Given the description of an element on the screen output the (x, y) to click on. 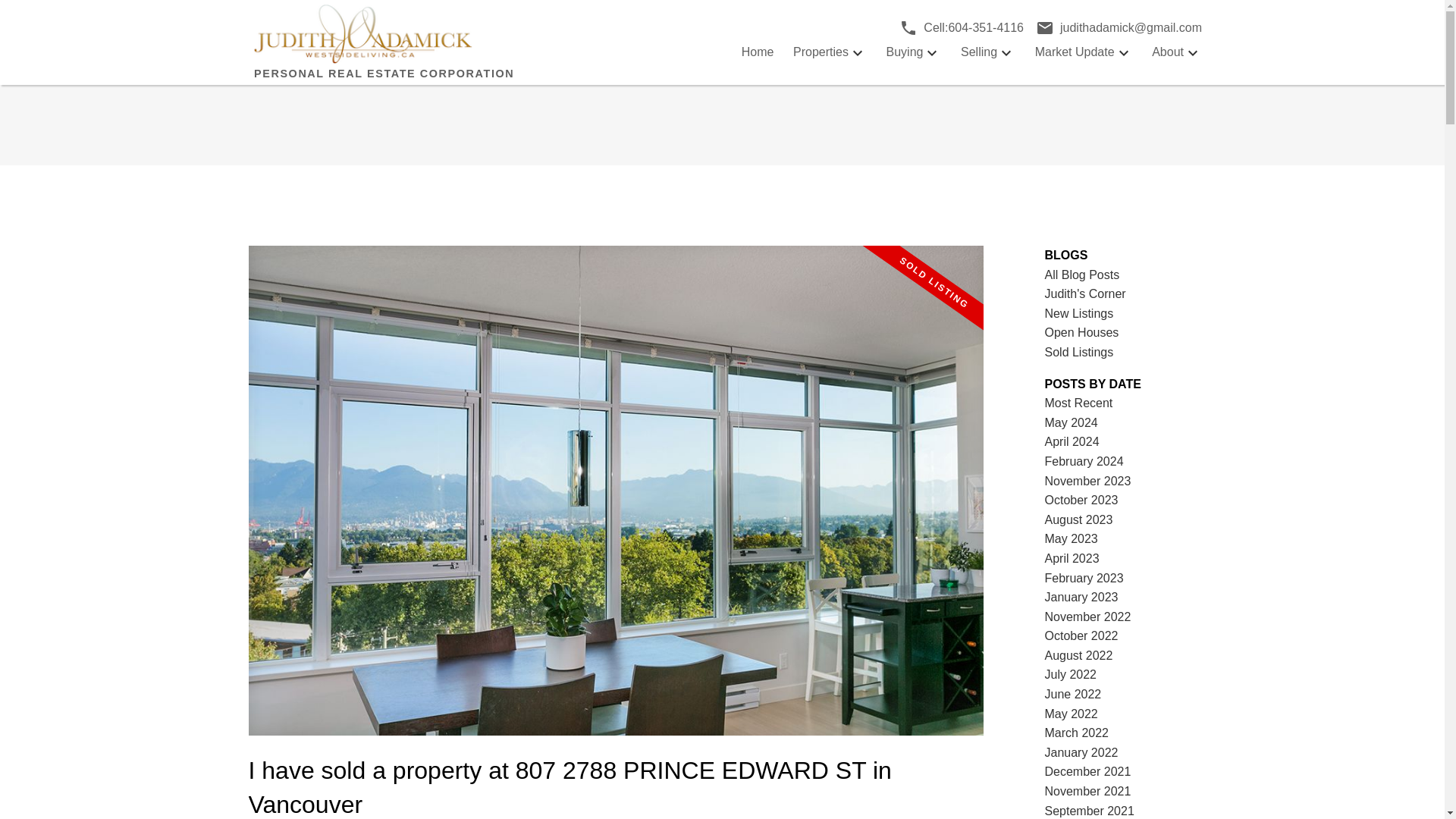
PERSONAL REAL ESTATE CORPORATION (438, 42)
Home (757, 52)
